Given the description of an element on the screen output the (x, y) to click on. 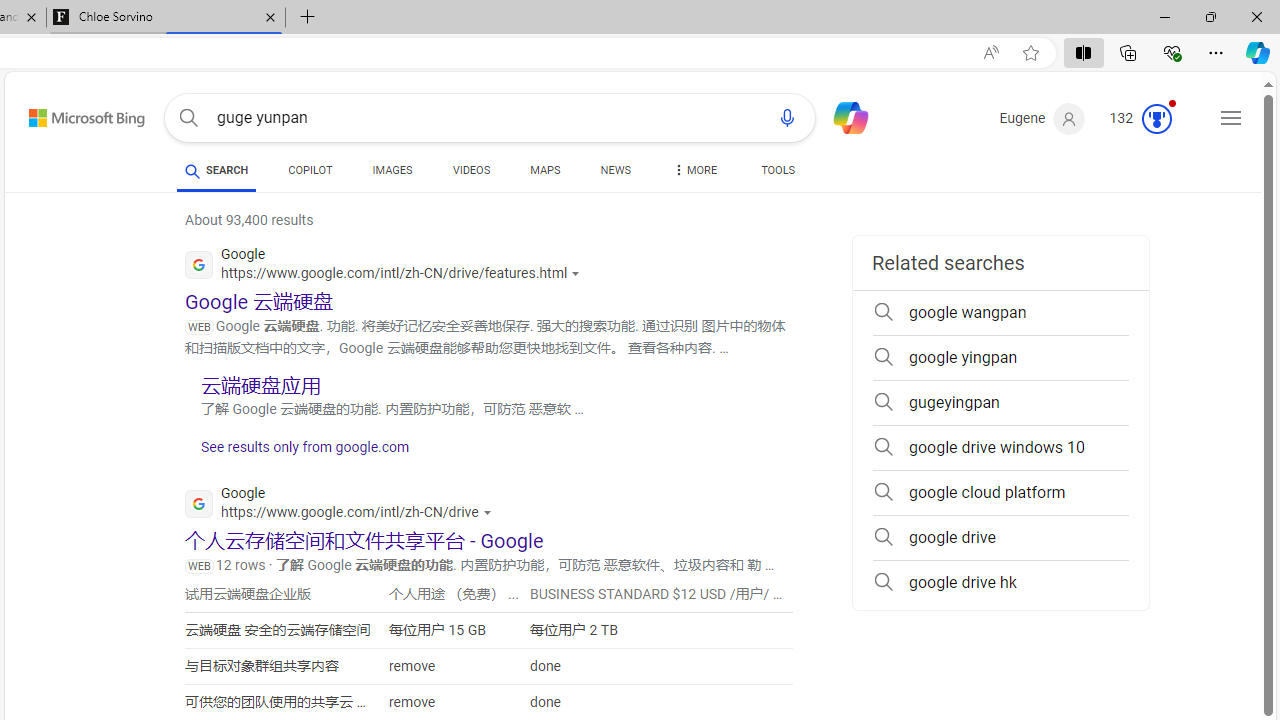
Global web icon (198, 503)
google yingpan (1000, 358)
TOOLS (777, 173)
gugeyingpan (1000, 402)
NEWS (614, 173)
VIDEOS (471, 173)
IMAGES (392, 173)
VIDEOS (471, 170)
Read aloud this page (Ctrl+Shift+U) (991, 53)
Google (343, 506)
